Given the description of an element on the screen output the (x, y) to click on. 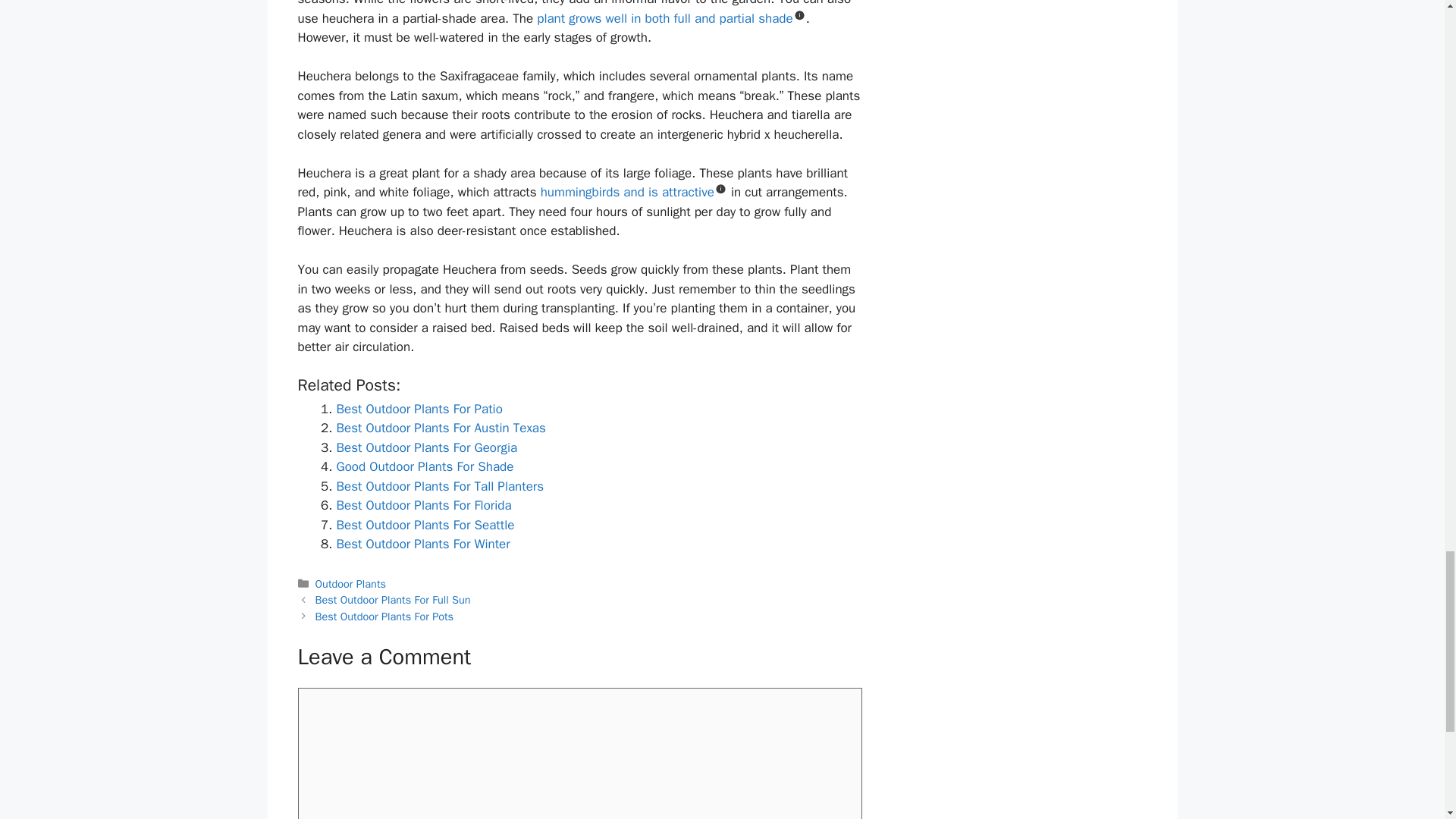
Best Outdoor Plants For Winter (423, 544)
Best Outdoor Plants For Pots (384, 616)
Best Outdoor Plants For Seattle (425, 524)
Best Outdoor Plants For Winter (423, 544)
Best Outdoor Plants For Florida (424, 505)
Outdoor Plants (350, 583)
Best Outdoor Plants For Austin Texas (441, 427)
Best Outdoor Plants For Florida (424, 505)
Good Outdoor Plants For Shade (424, 466)
Best Outdoor Plants For Tall Planters (440, 486)
Best Outdoor Plants For Tall Planters (440, 486)
plant grows well in both full and partial shade (664, 18)
Best Outdoor Plants For Georgia (427, 447)
Best Outdoor Plants For Full Sun (392, 599)
Best Outdoor Plants For Seattle (425, 524)
